Given the description of an element on the screen output the (x, y) to click on. 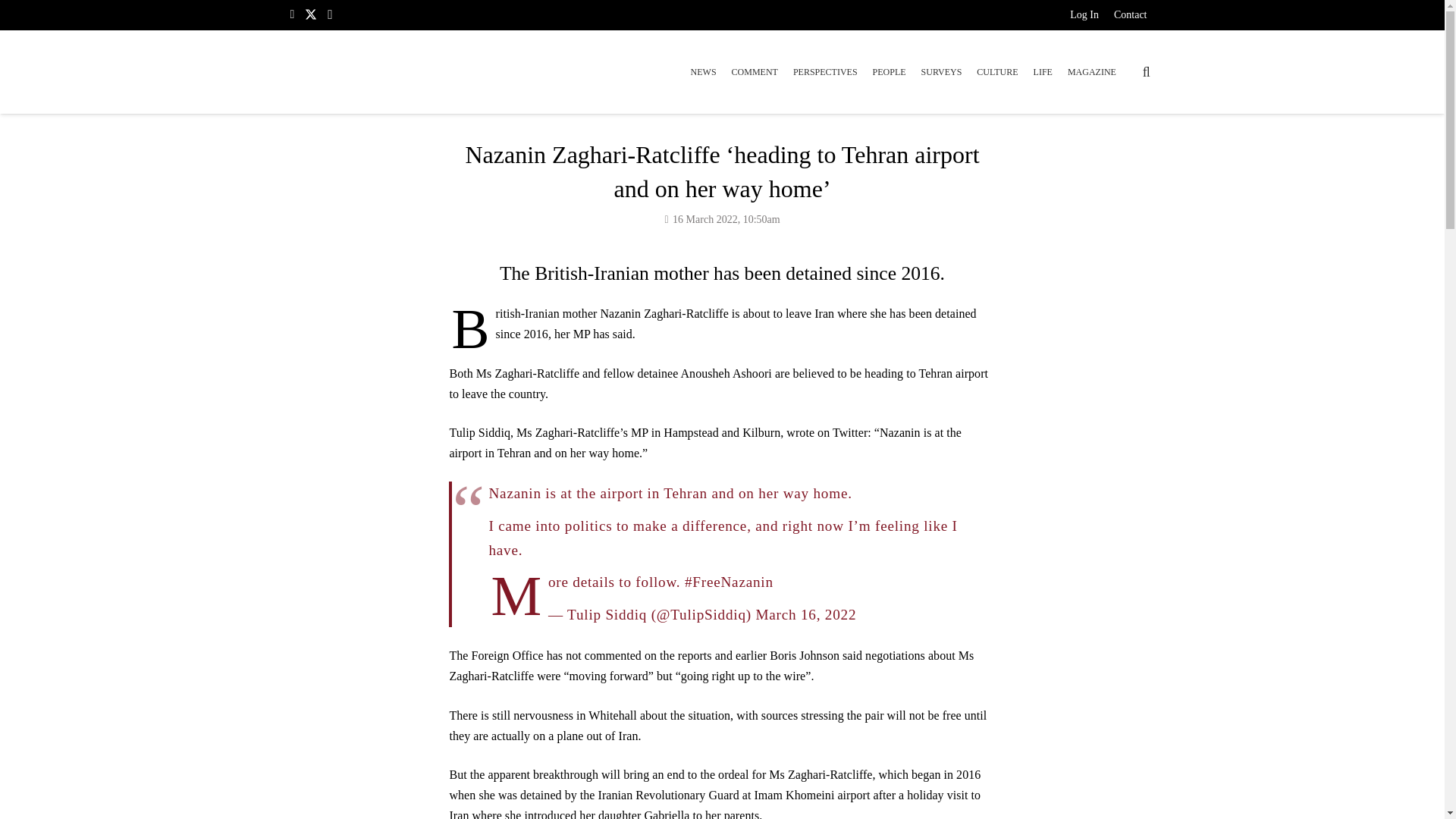
MAGAZINE (1091, 71)
PEOPLE (889, 71)
Twitter (310, 14)
SURVEYS (941, 71)
NEWS (702, 71)
Log In (1084, 17)
Contact (1130, 17)
PERSPECTIVES (825, 71)
LIFE (1042, 71)
March 16, 2022 (805, 614)
